Given the description of an element on the screen output the (x, y) to click on. 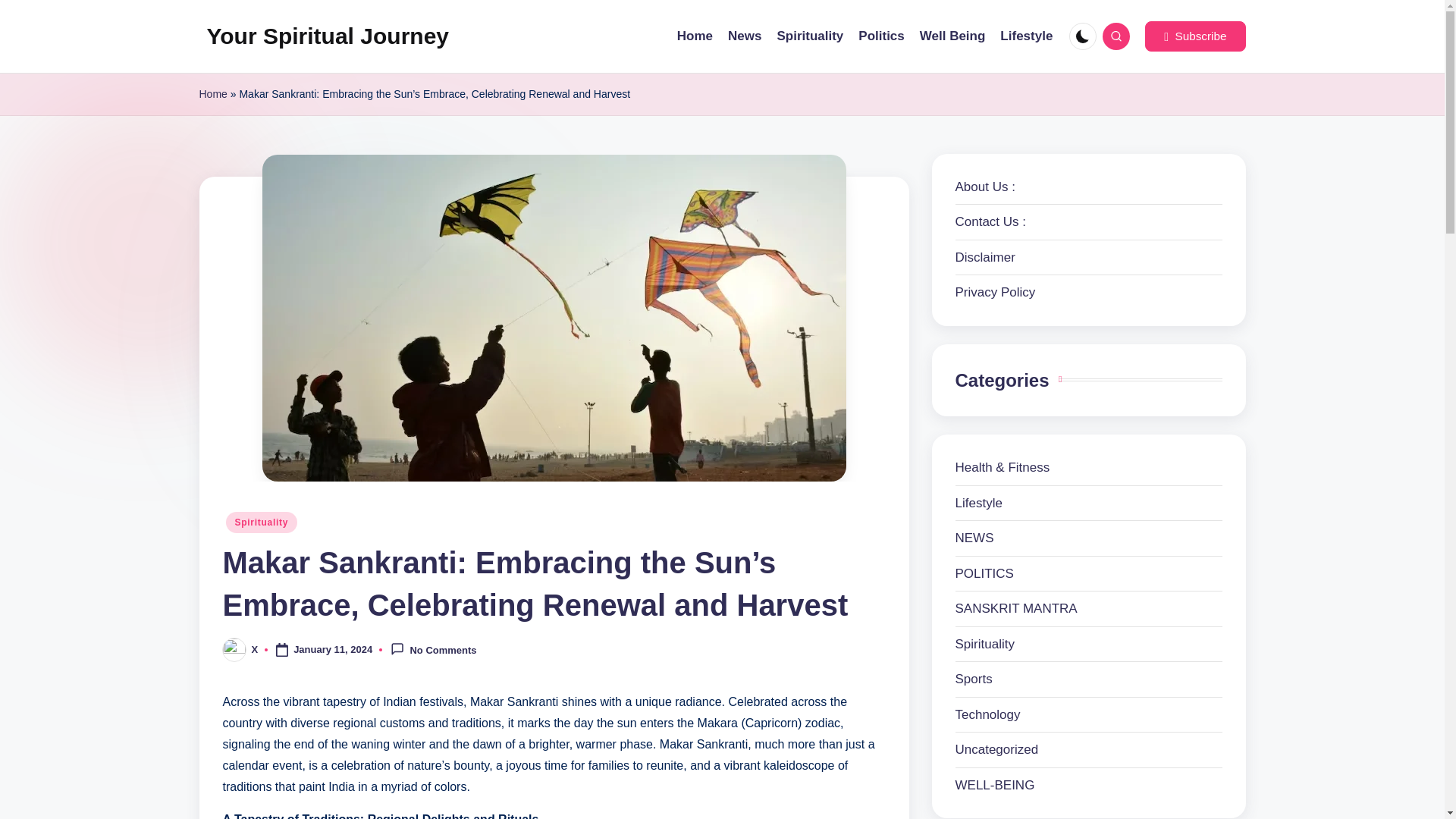
Spirituality (261, 521)
News (744, 36)
Well Being (952, 36)
Subscribe (1194, 36)
Politics (881, 36)
Spirituality (809, 36)
Home (212, 94)
No Comments (433, 649)
Lifestyle (1026, 36)
Home (695, 36)
Your Spiritual Journey (327, 36)
